Given the description of an element on the screen output the (x, y) to click on. 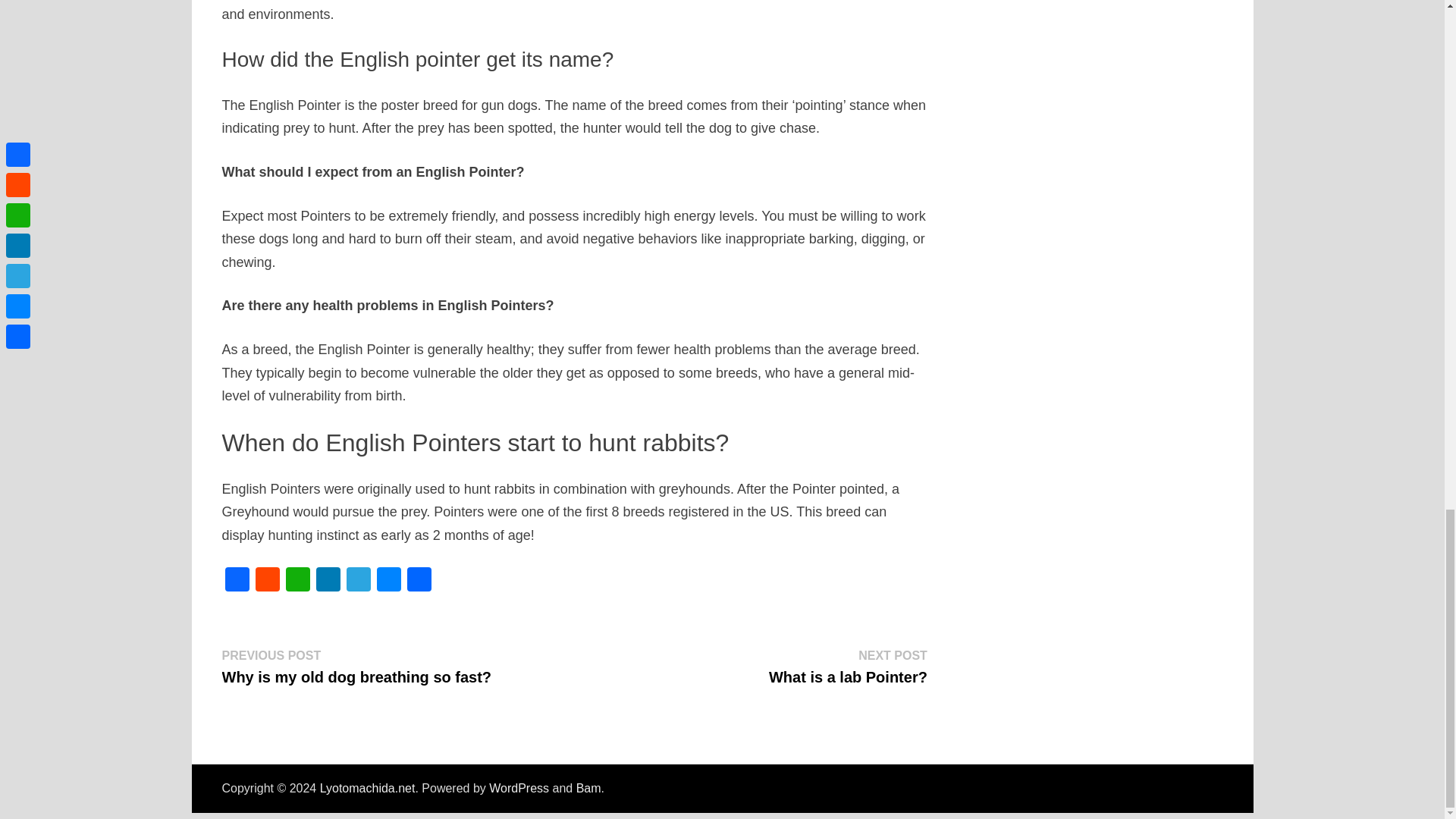
LinkedIn (327, 581)
Facebook (236, 581)
Telegram (357, 581)
Facebook (236, 581)
Reddit (266, 581)
WhatsApp (297, 581)
Share (418, 581)
WhatsApp (297, 581)
Messenger (387, 581)
